Given the description of an element on the screen output the (x, y) to click on. 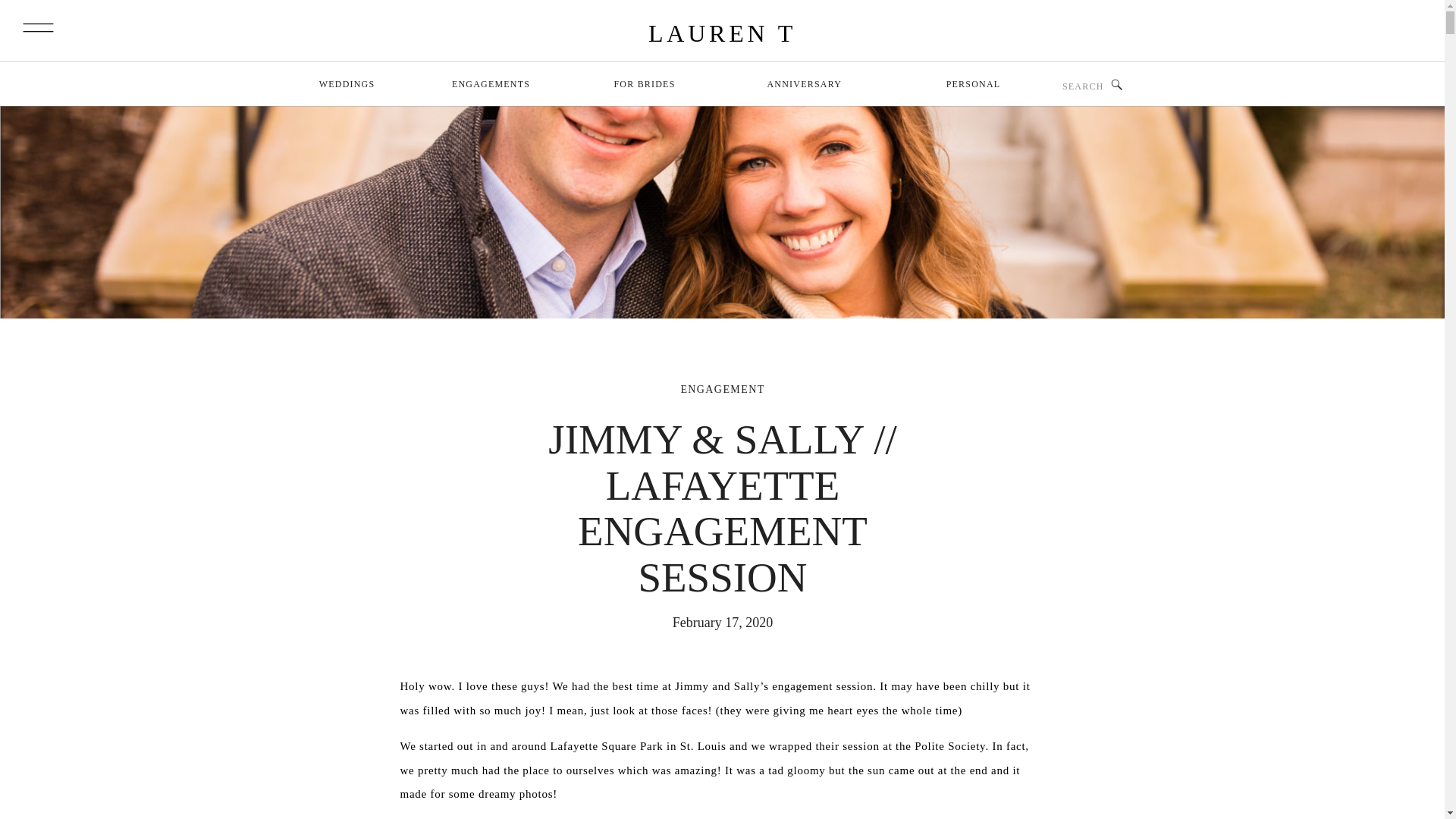
ENGAGEMENTS (490, 85)
PERSONAL (973, 85)
ENGAGEMENT (721, 389)
WEDDINGS (346, 85)
FOR BRIDES (644, 85)
LAUREN T (722, 33)
